Given the description of an element on the screen output the (x, y) to click on. 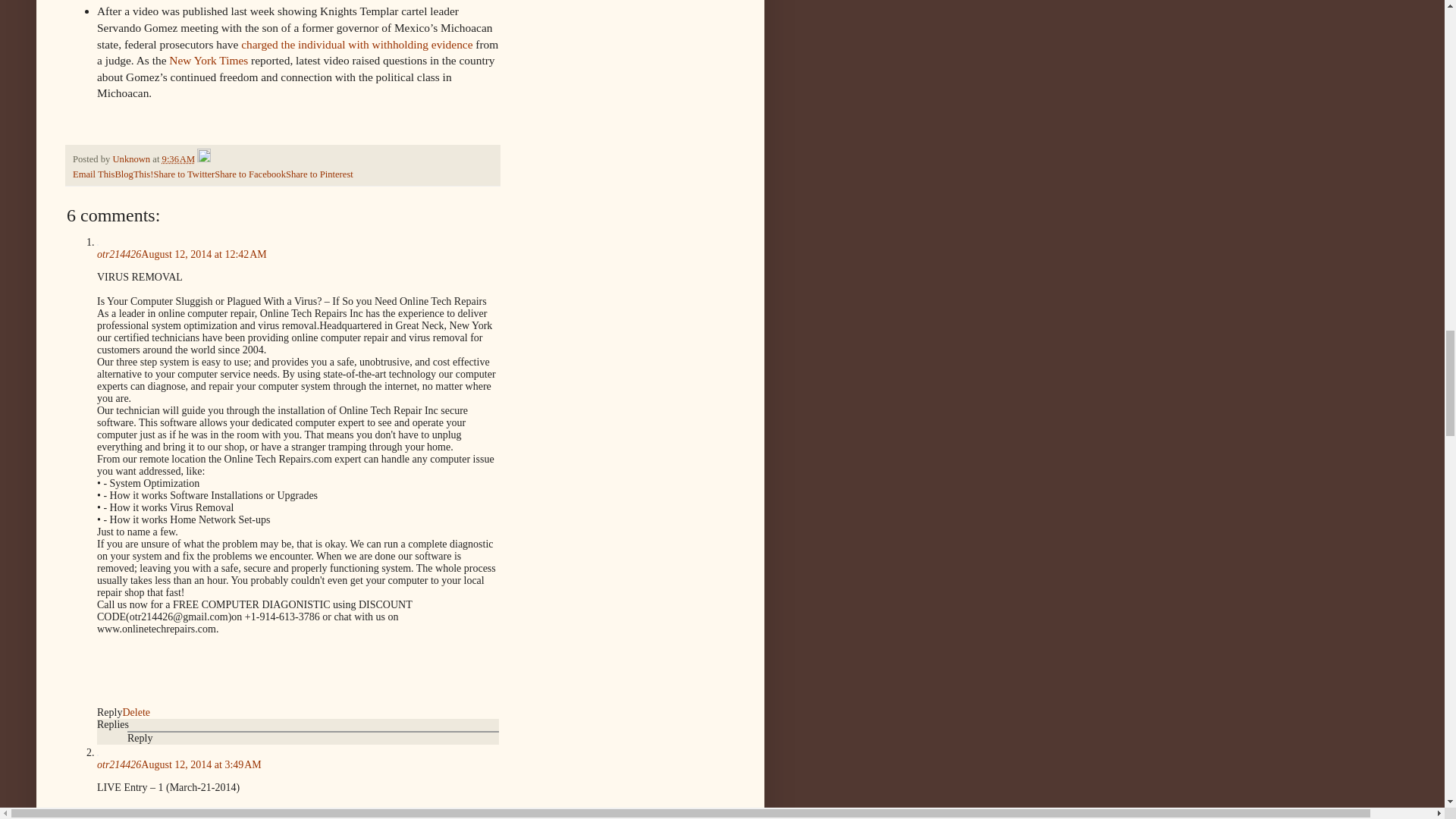
Email This (93, 173)
permanent link (178, 158)
Share to Facebook (249, 173)
Edit Post (203, 158)
Share to Twitter (183, 173)
Unknown (132, 158)
Share to Twitter (183, 173)
Share to Pinterest (319, 173)
Email This (93, 173)
author profile (132, 158)
BlogThis! (133, 173)
charged the individual with withholding evidence (356, 43)
Share to Pinterest (319, 173)
BlogThis! (133, 173)
